Given the description of an element on the screen output the (x, y) to click on. 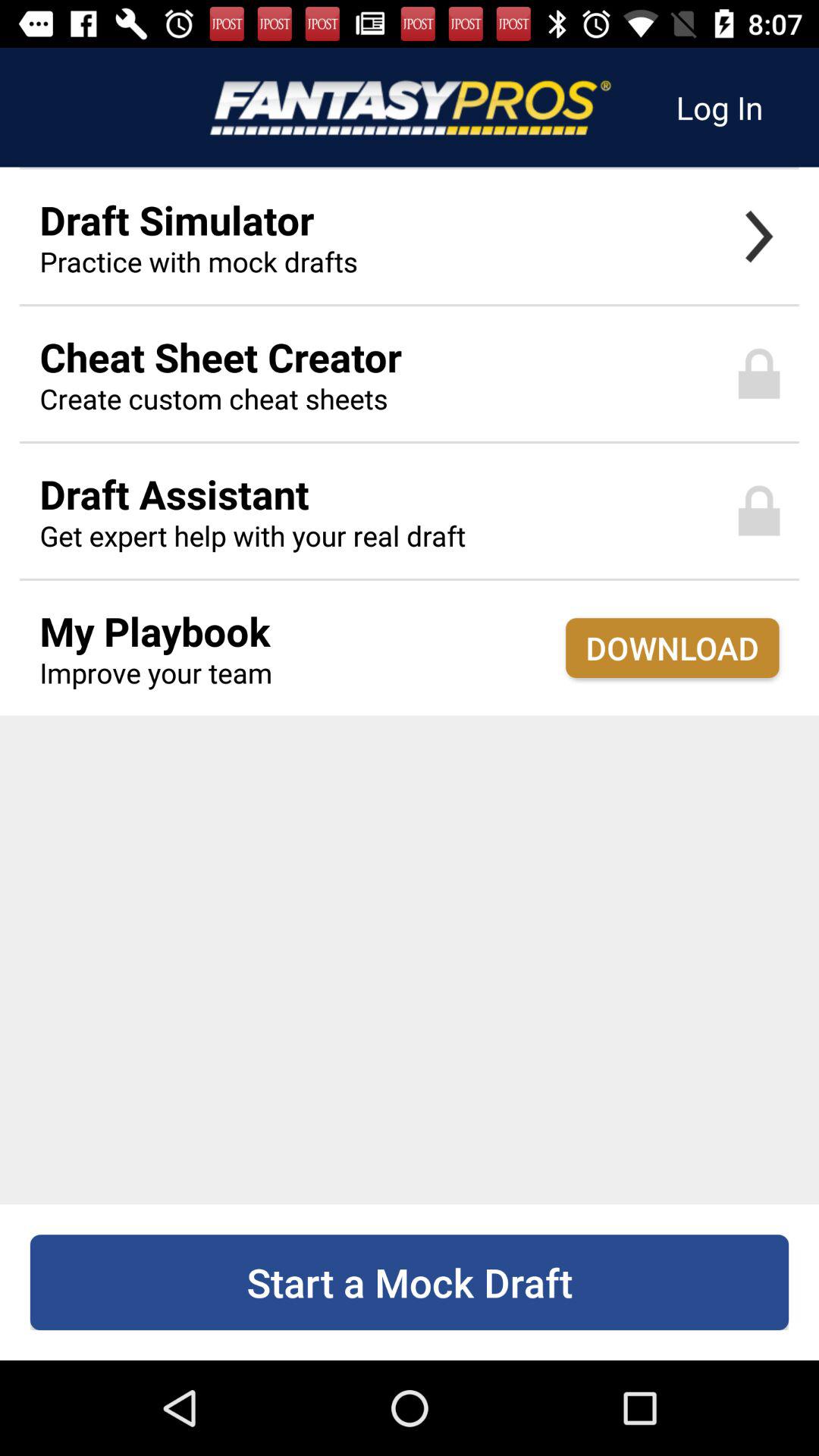
flip to log in (719, 107)
